Given the description of an element on the screen output the (x, y) to click on. 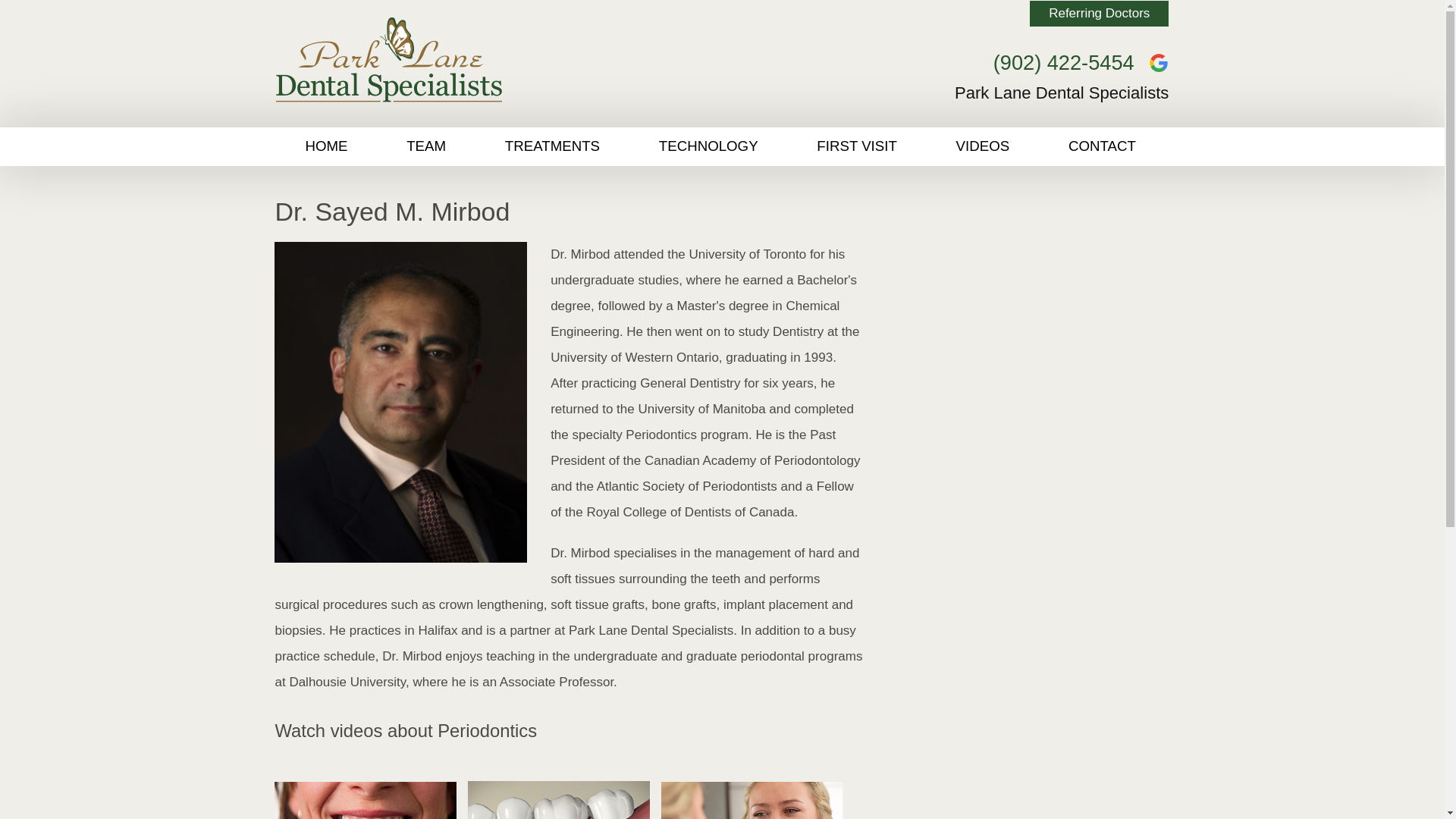
TEAM (426, 146)
TREATMENTS (552, 146)
Gingival Grafting (562, 796)
TECHNOLOGY (707, 146)
Referring Doctors (1099, 13)
HOME (326, 146)
VIDEOS (982, 146)
CONTACT (1102, 146)
FIRST VISIT (856, 146)
Scaling (755, 796)
About Periodontal Disease (369, 796)
Home (499, 59)
